Given the description of an element on the screen output the (x, y) to click on. 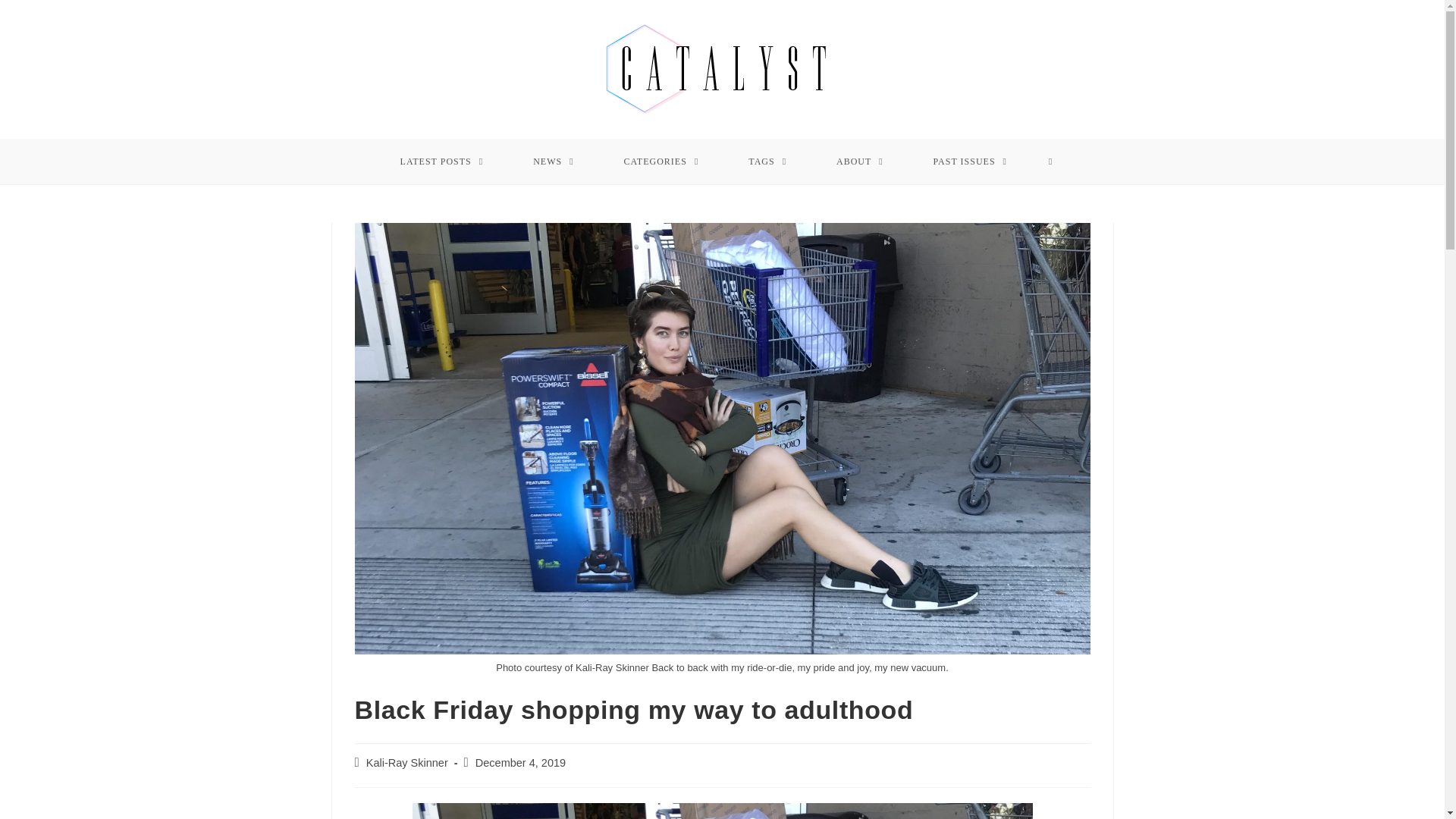
TAGS (766, 161)
CATEGORIES (660, 161)
Posts by Kali-Ray Skinner (407, 762)
ABOUT (859, 161)
Kali-Ray Skinner (407, 762)
LATEST POSTS (441, 161)
NEWS (553, 161)
PAST ISSUES (970, 161)
